Given the description of an element on the screen output the (x, y) to click on. 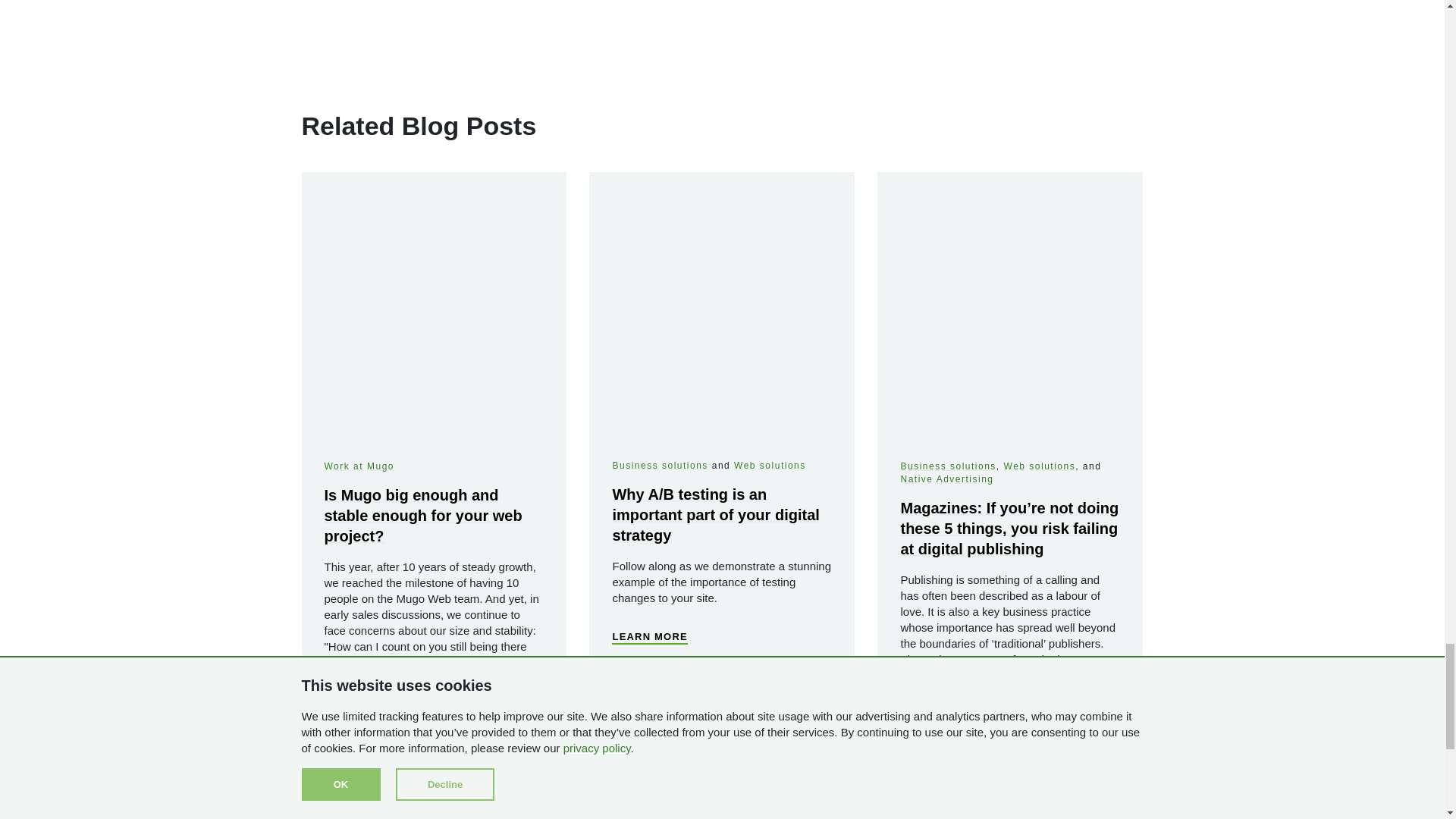
LEARN MORE (361, 793)
Work at Mugo (359, 466)
Is Mugo big enough and stable enough for your web project? (423, 515)
